Given the description of an element on the screen output the (x, y) to click on. 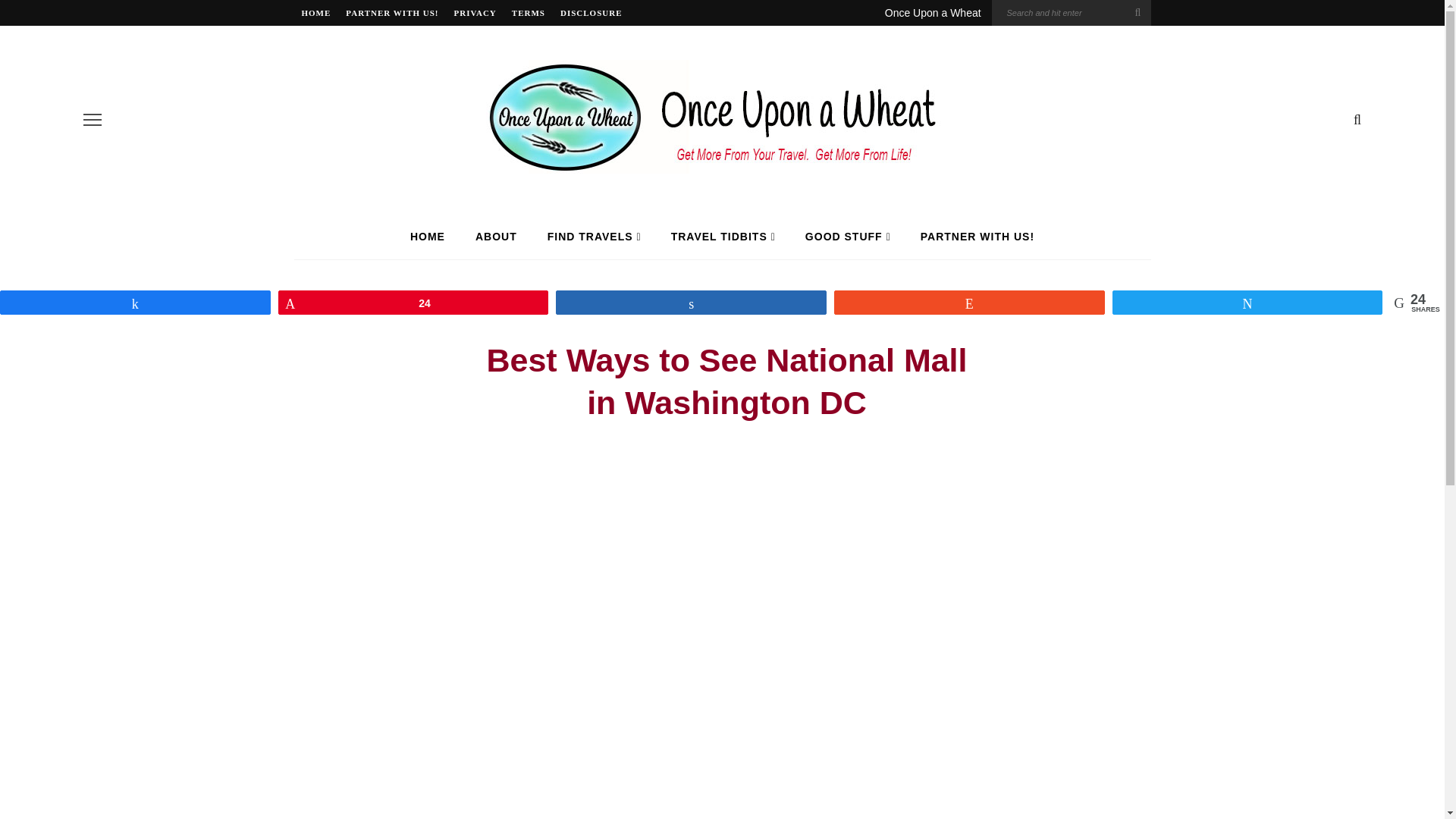
DISCLOSURE (591, 12)
HOME (316, 12)
Search for: (1071, 12)
PRIVACY (474, 12)
TERMS (528, 12)
off canvas button (91, 119)
PARTNER WITH US! (391, 12)
